Given the description of an element on the screen output the (x, y) to click on. 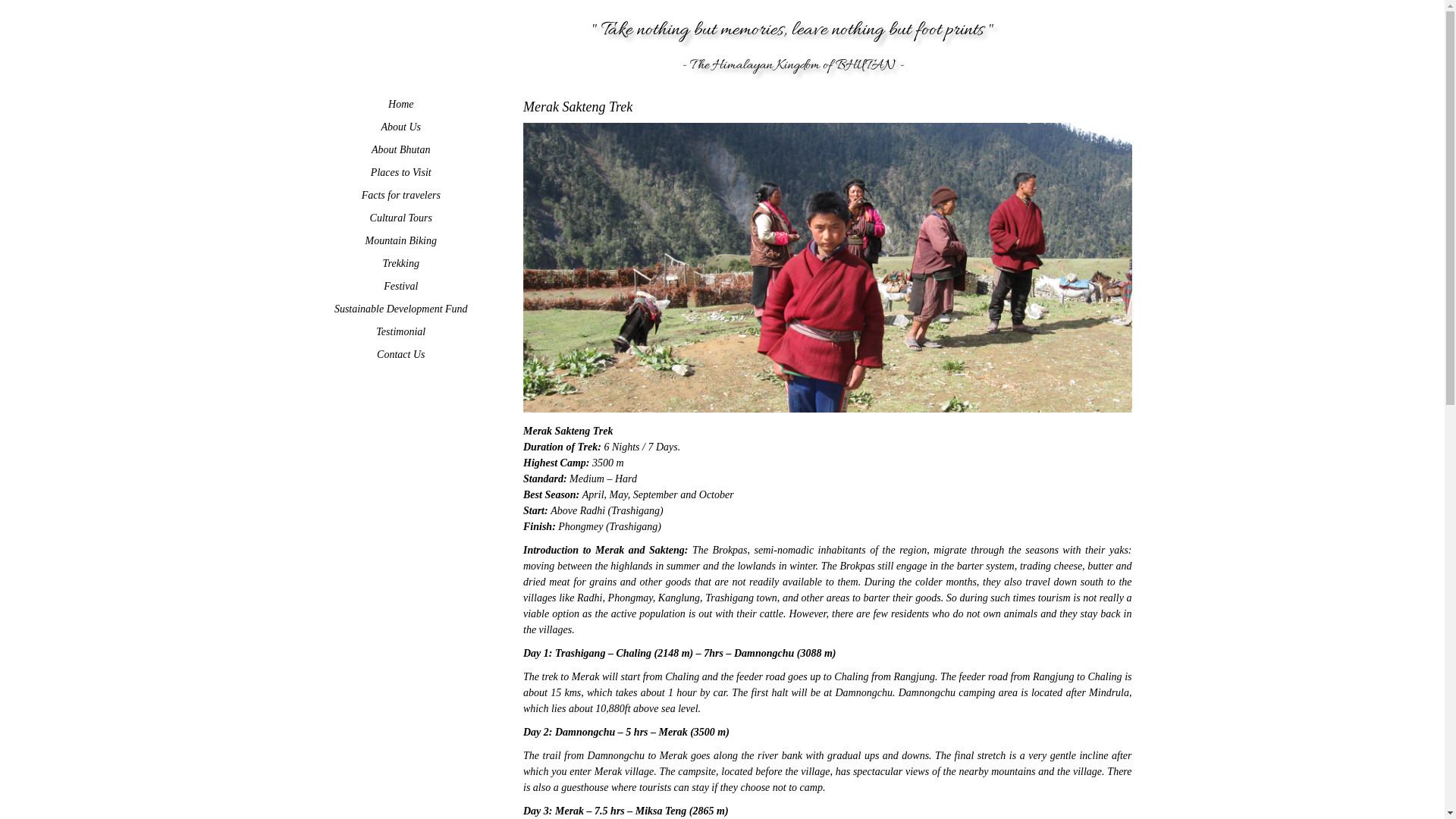
Facts for travelers Element type: text (401, 195)
Places to Visit Element type: text (401, 172)
Cultural Tours Element type: text (401, 218)
Testimonial Element type: text (401, 331)
People of Merak Element type: hover (827, 267)
About Us Element type: text (401, 127)
Contact Us Element type: text (401, 354)
Home Element type: text (401, 104)
Festival Element type: text (401, 286)
Sustainable Development Fund Element type: text (401, 309)
Trekking Element type: text (401, 263)
Mountain Biking Element type: text (401, 240)
About Bhutan Element type: text (401, 149)
